Given the description of an element on the screen output the (x, y) to click on. 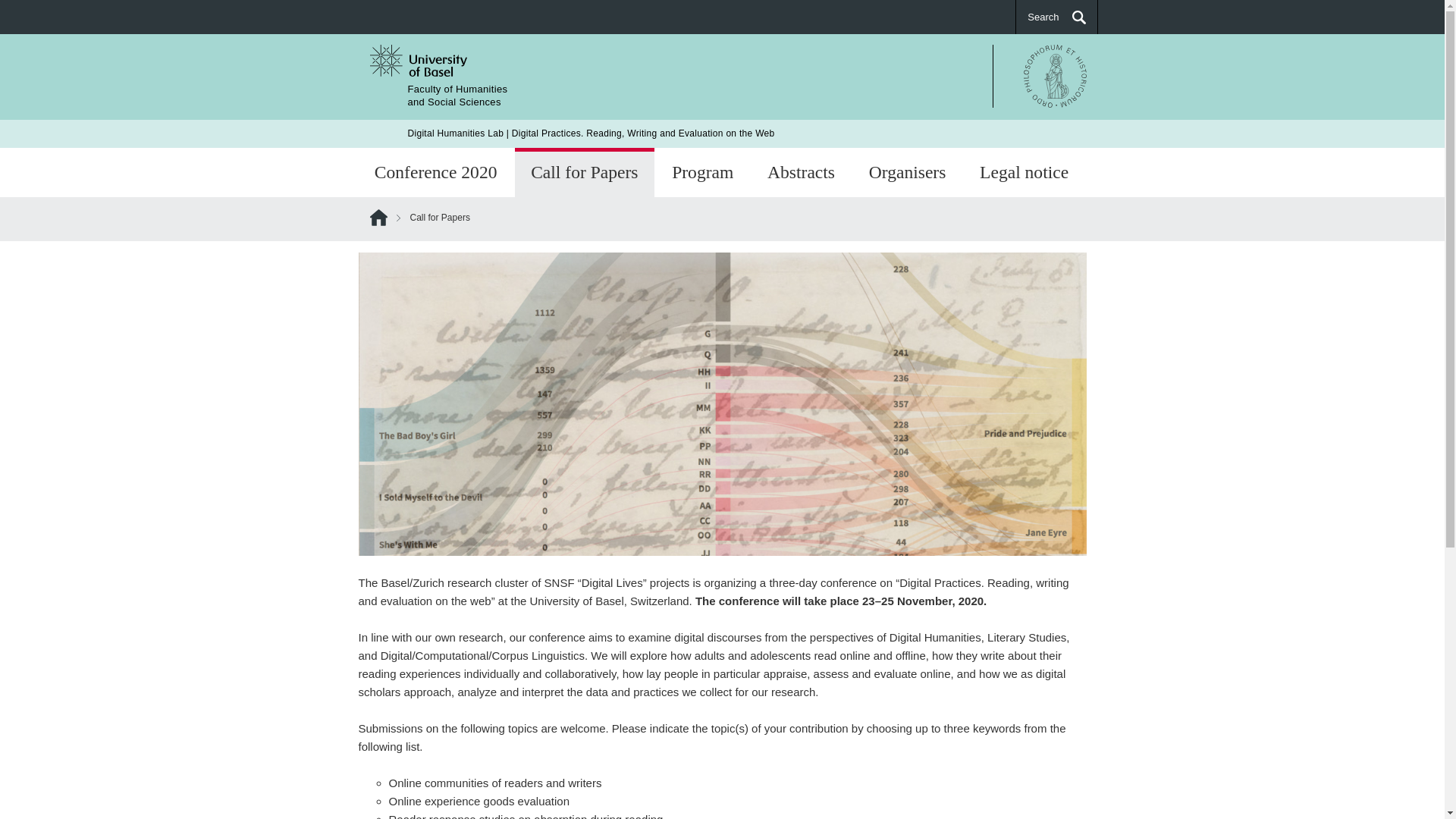
Search (1055, 17)
Call for Papers (584, 174)
Abstracts (801, 174)
Conference 2020 (435, 172)
Call for Papers (584, 174)
Program (702, 174)
Organisers (906, 172)
Conference 2020 (457, 95)
Program (435, 174)
